Given the description of an element on the screen output the (x, y) to click on. 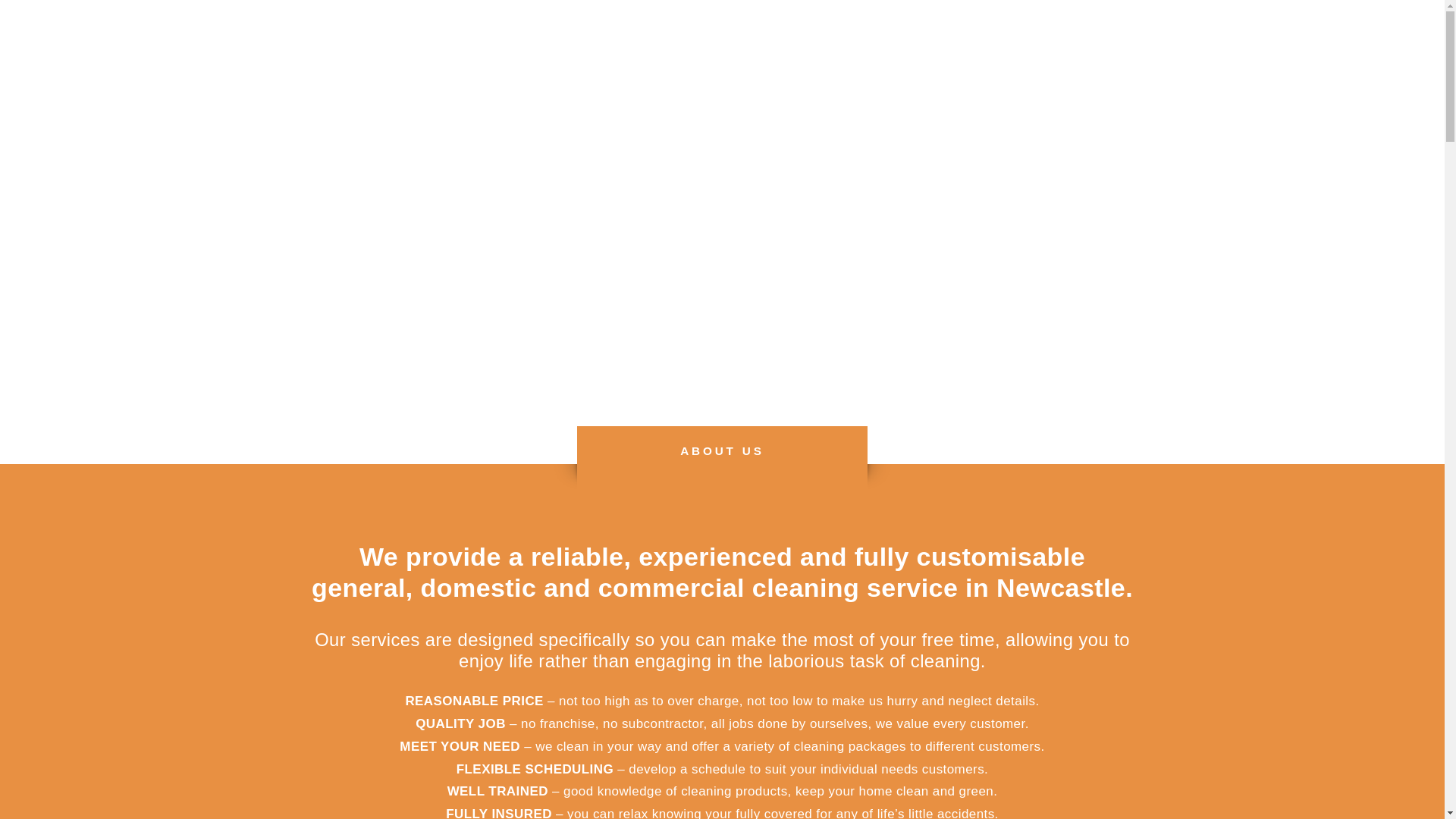
KAREN JOHNSTON CLEANING SERVICES Element type: text (722, 229)
SERVICES Element type: text (753, 63)
CONTACT Element type: text (865, 63)
HOME Element type: text (564, 63)
0411 466 859 Element type: text (862, 268)
ABOUT Element type: text (651, 63)
